Given the description of an element on the screen output the (x, y) to click on. 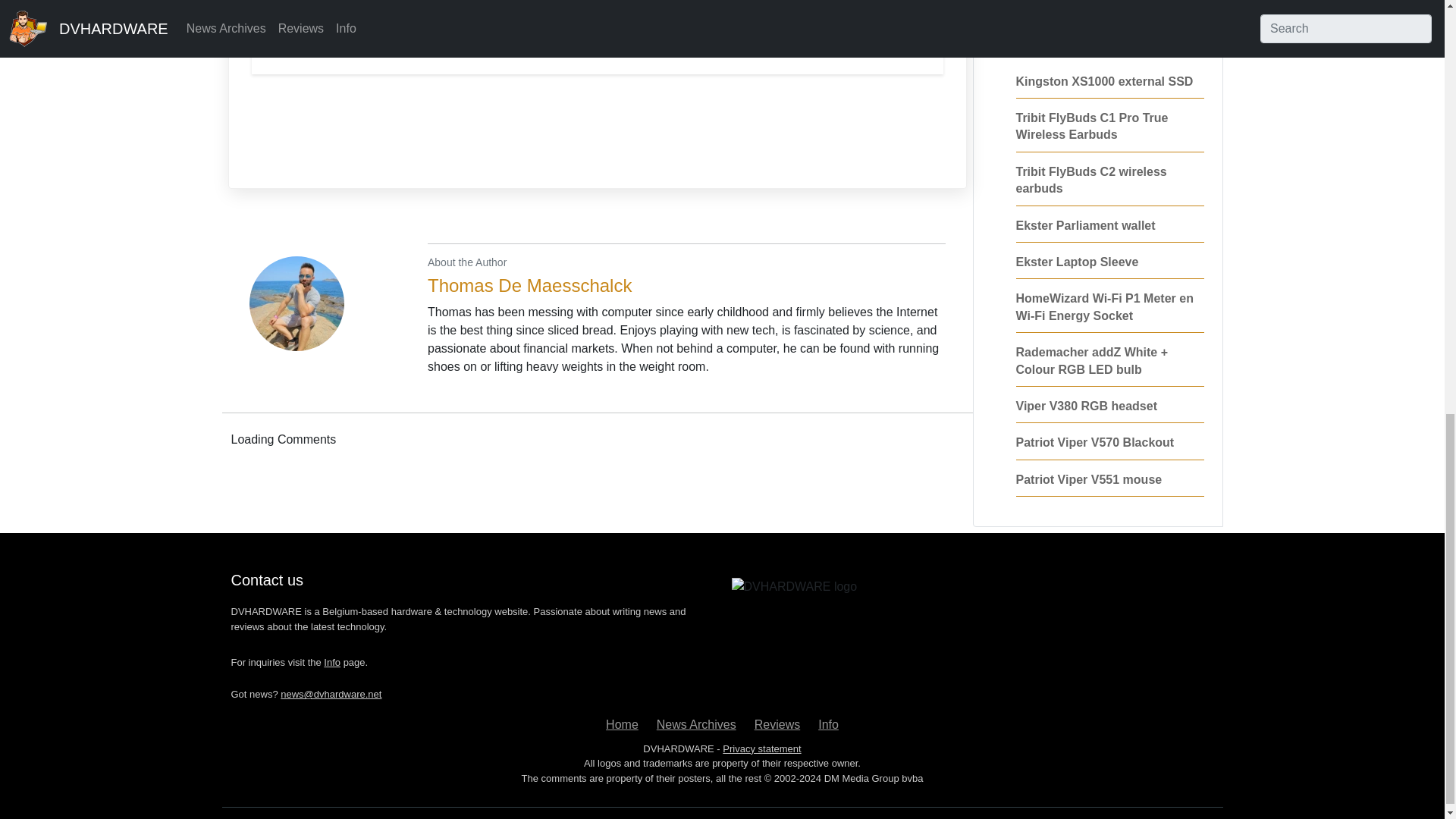
Tribit FlyBuds C2 wireless earbuds (1091, 179)
Patriot Viper V551 mouse (1088, 479)
Privacy statement (761, 748)
Patriot Viper V570 Blackout (1095, 441)
Tribit FlyBuds C1 Pro True Wireless Earbuds (1092, 125)
News Archives (696, 724)
Kingston XS1000 external SSD (1104, 81)
Info (828, 724)
Viper V380 RGB headset (1086, 405)
Home (622, 724)
